Given the description of an element on the screen output the (x, y) to click on. 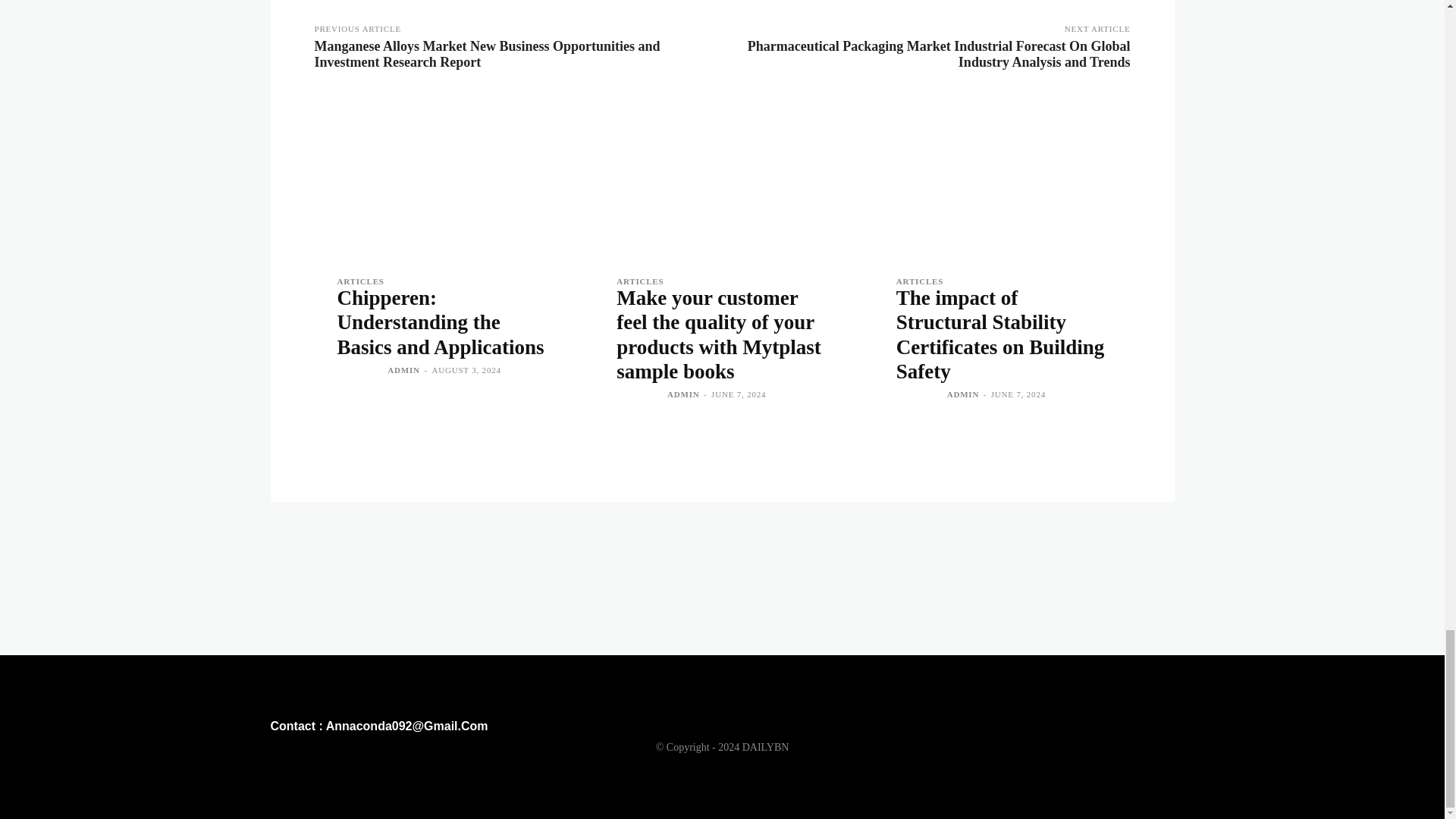
Chipperen: Understanding the Basics and Applications (442, 177)
Chipperen: Understanding the Basics and Applications (439, 322)
